Given the description of an element on the screen output the (x, y) to click on. 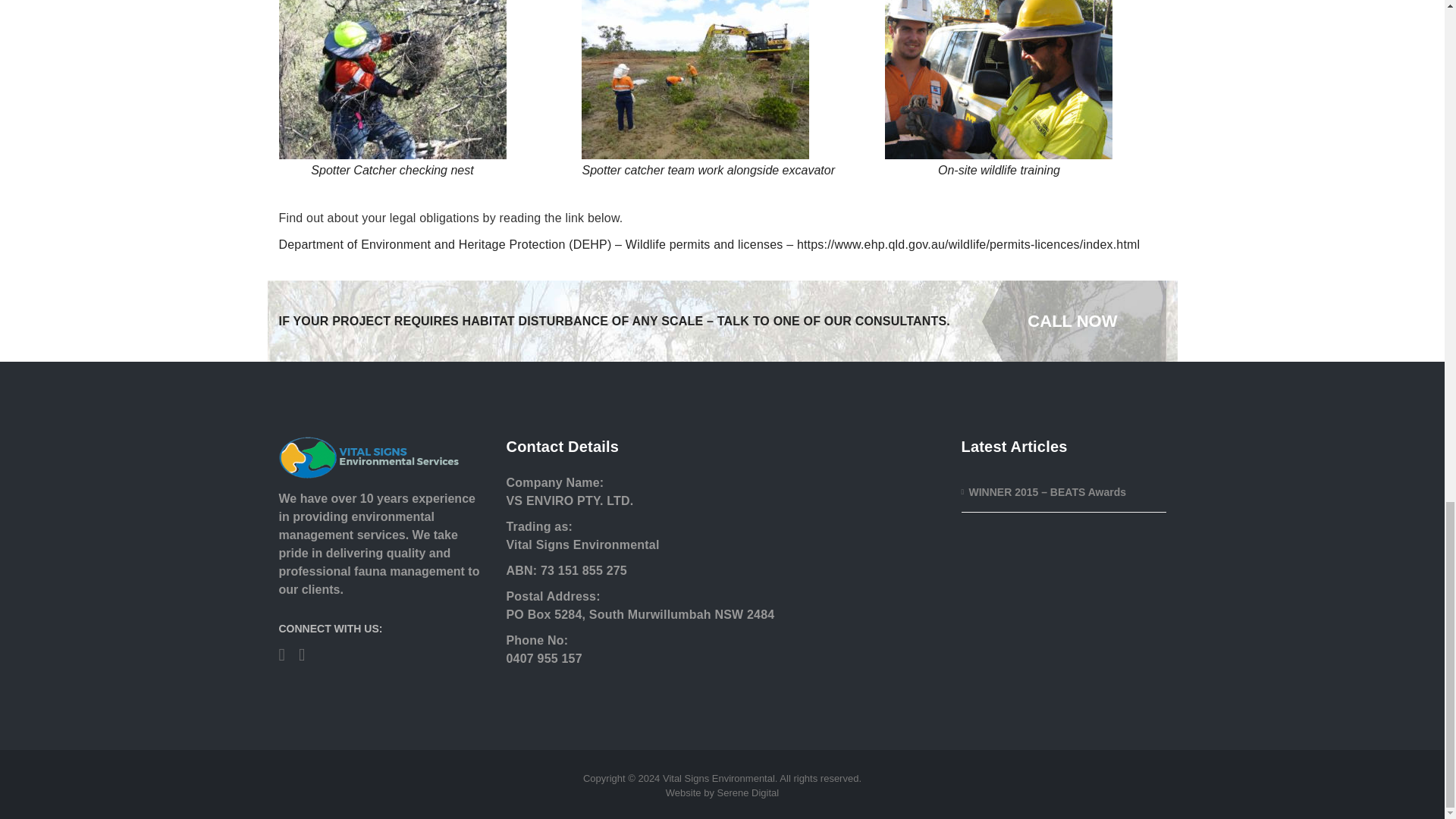
Serene Digital (747, 792)
CALL NOW (1084, 320)
spotter-catcher-checking-nest (392, 79)
on-site-spotter-catchers (694, 79)
